Given the description of an element on the screen output the (x, y) to click on. 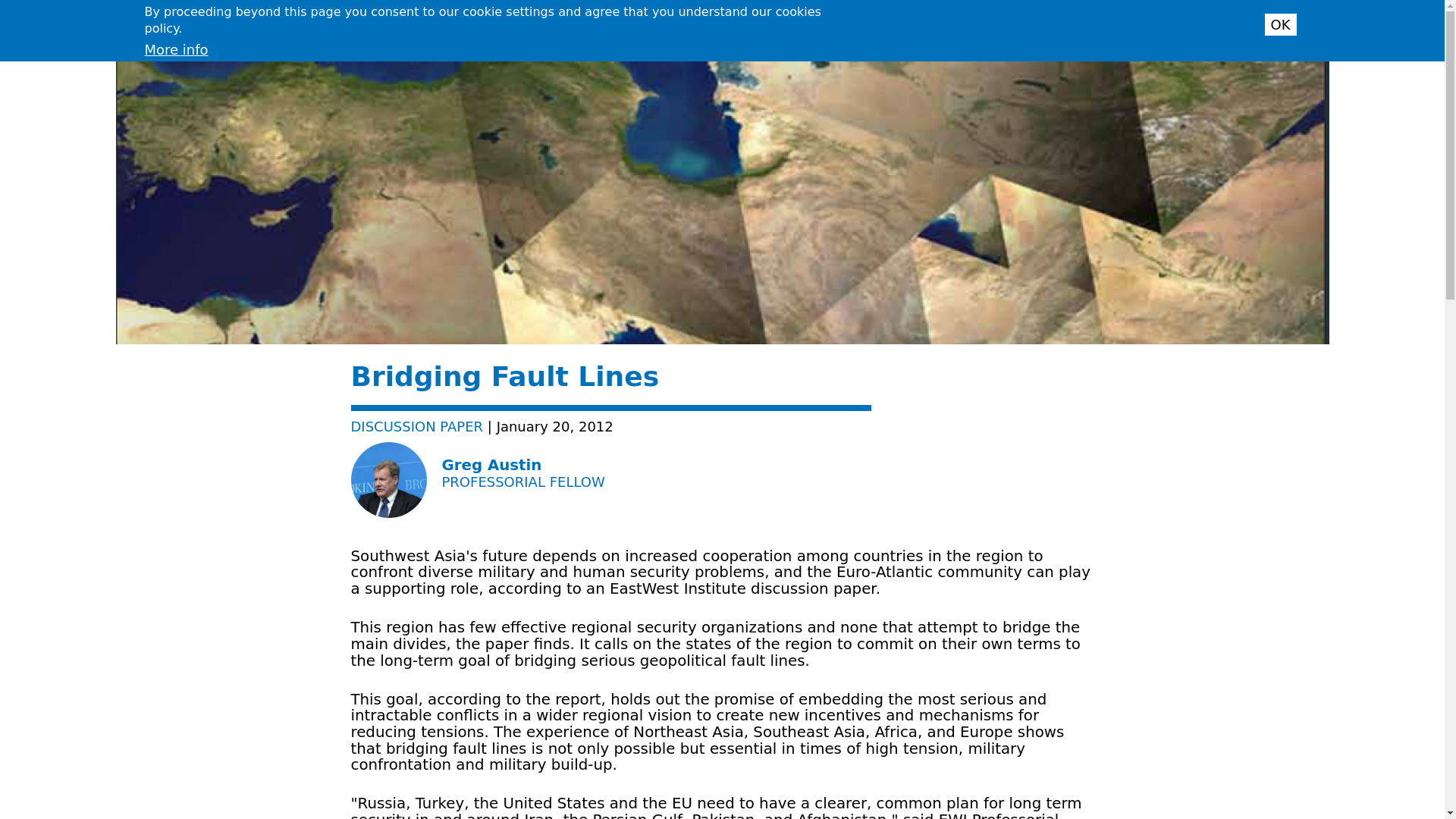
PROGRAMS (1041, 21)
More info (176, 49)
PEOPLE (1114, 21)
ABOUT (970, 21)
OK (1281, 24)
